Given the description of an element on the screen output the (x, y) to click on. 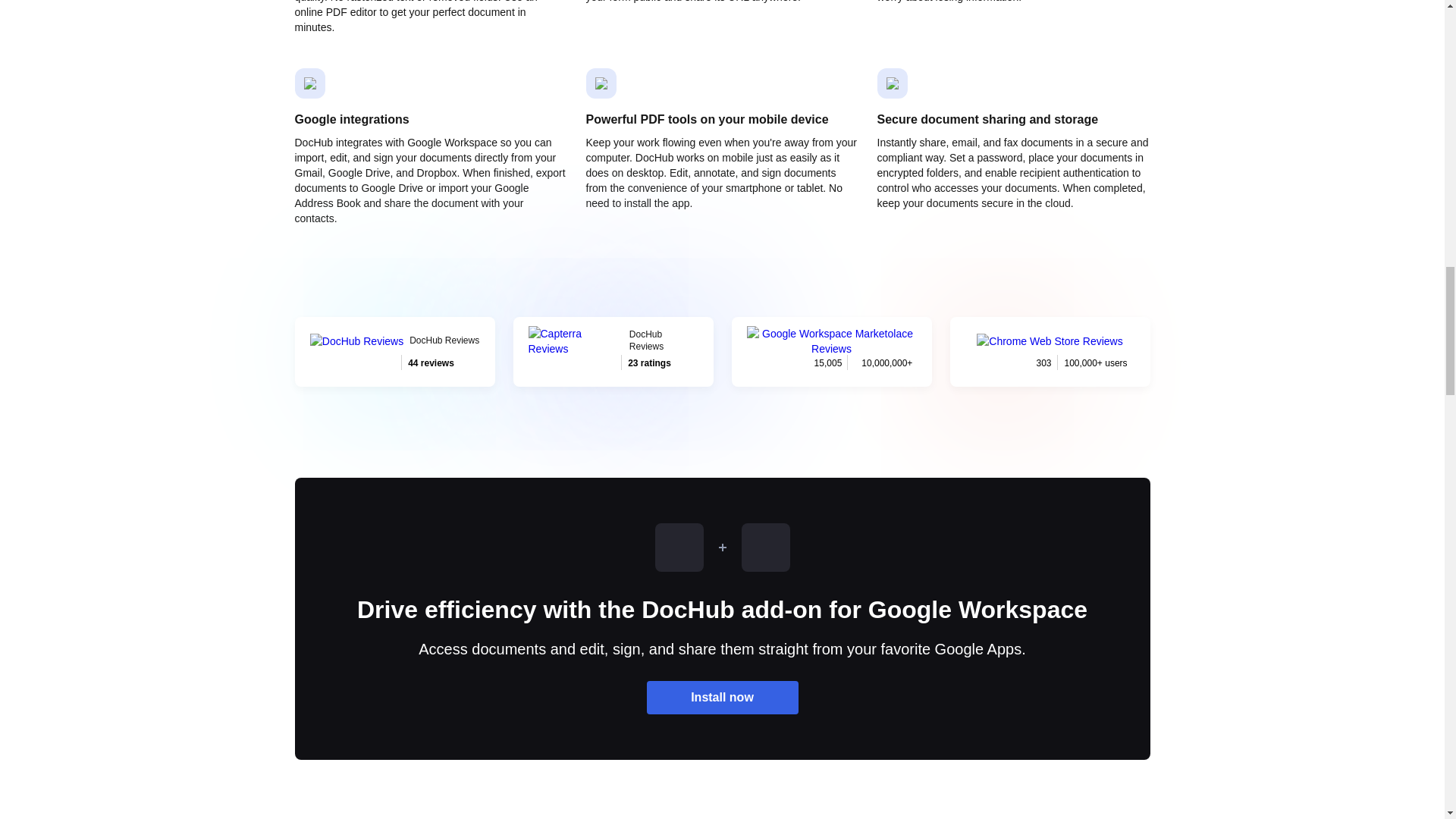
Install now (721, 697)
